Given the description of an element on the screen output the (x, y) to click on. 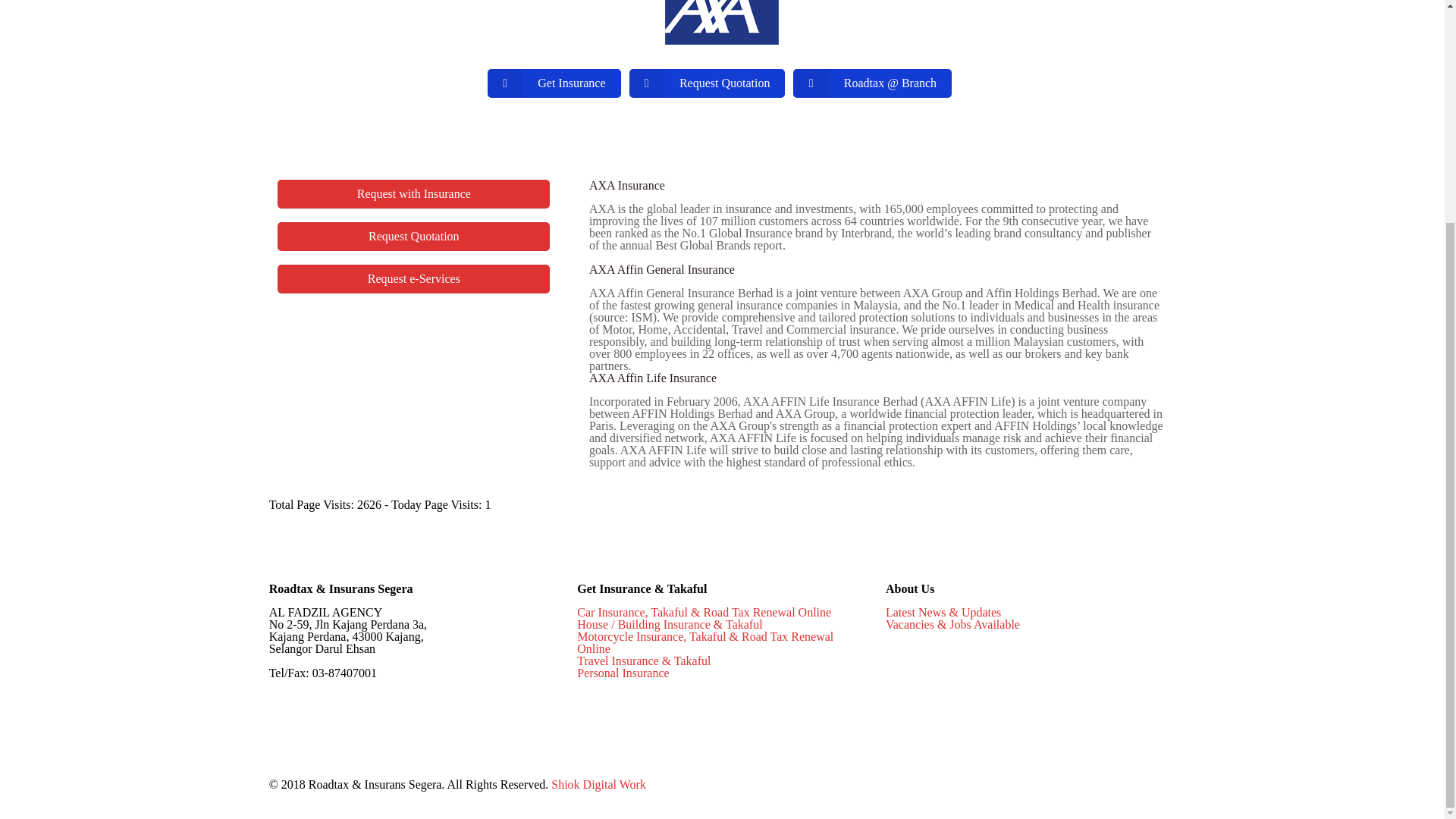
Twitter (1132, 784)
Get Insurance (554, 82)
Instagram (1152, 784)
Facebook (1111, 784)
